Given the description of an element on the screen output the (x, y) to click on. 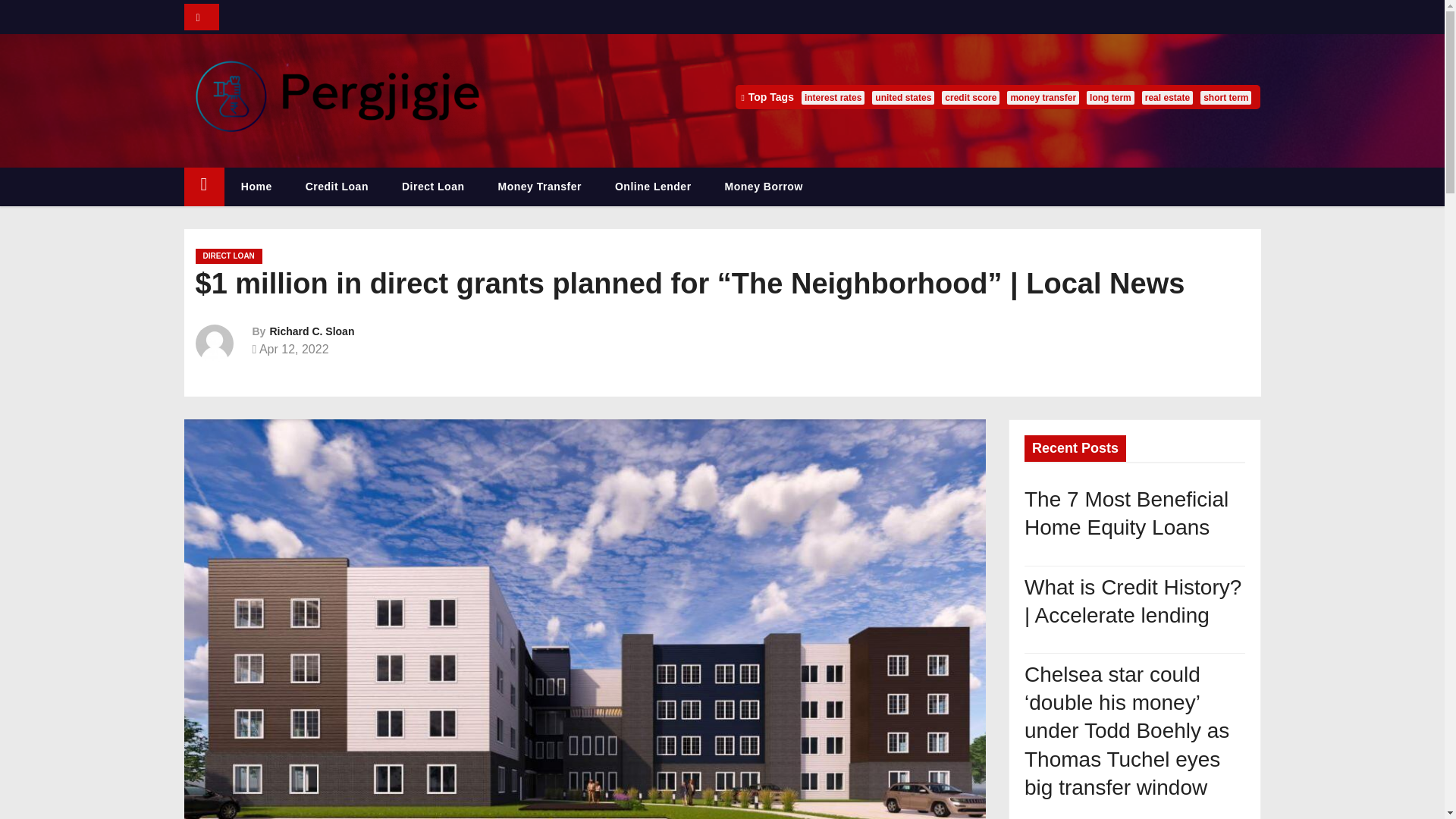
Home (203, 186)
Money Borrow (763, 186)
short term (1224, 97)
credit score (970, 97)
Direct loan (433, 186)
Money borrow (763, 186)
Direct Loan (433, 186)
Money transfer (538, 186)
Home (256, 186)
money transfer (1042, 97)
